Given the description of an element on the screen output the (x, y) to click on. 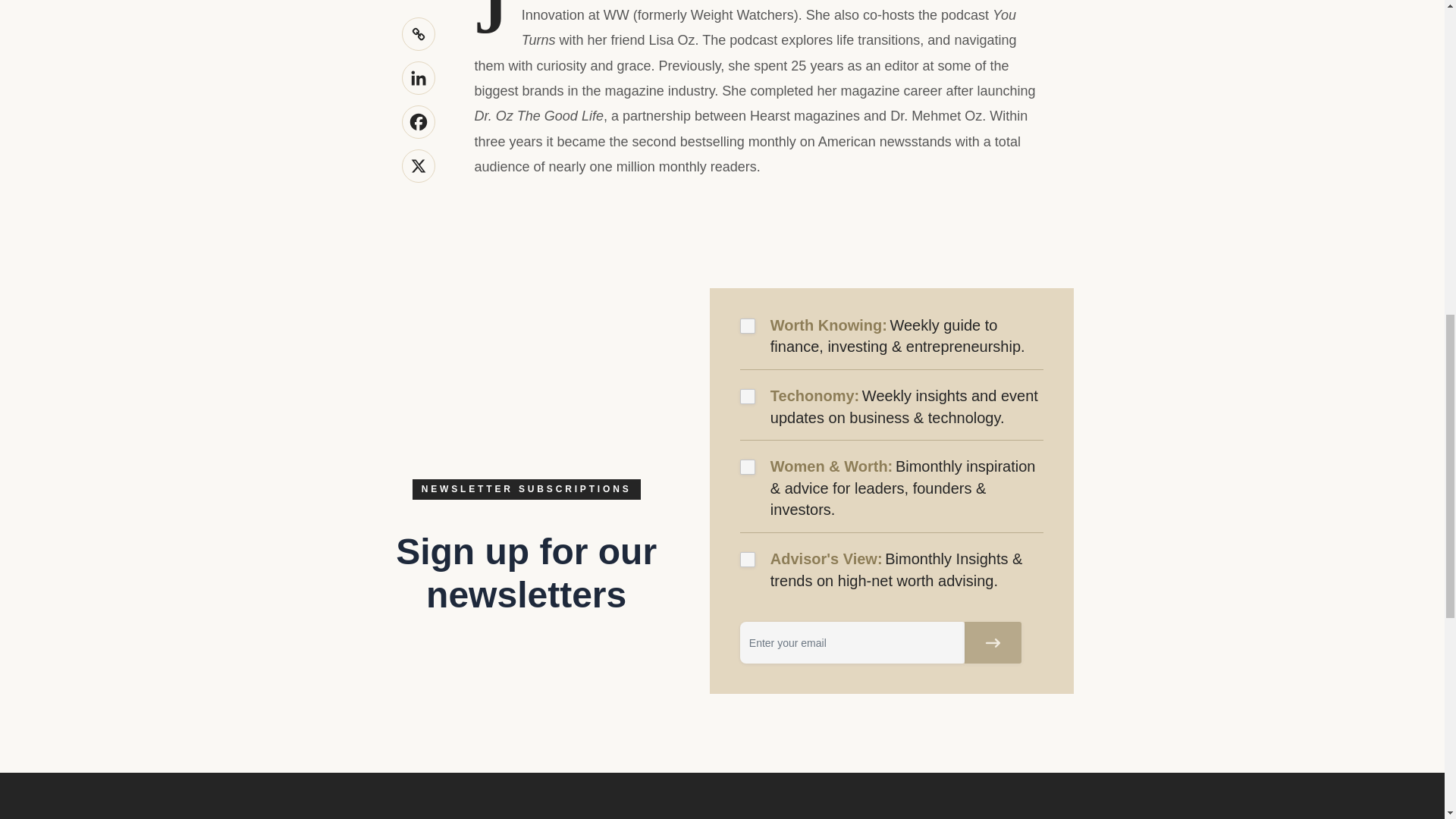
Facebook (418, 121)
yes (747, 325)
yes (747, 396)
yes (747, 559)
X (418, 165)
Copy Link (418, 33)
Linkedin (418, 78)
yes (747, 467)
